Given the description of an element on the screen output the (x, y) to click on. 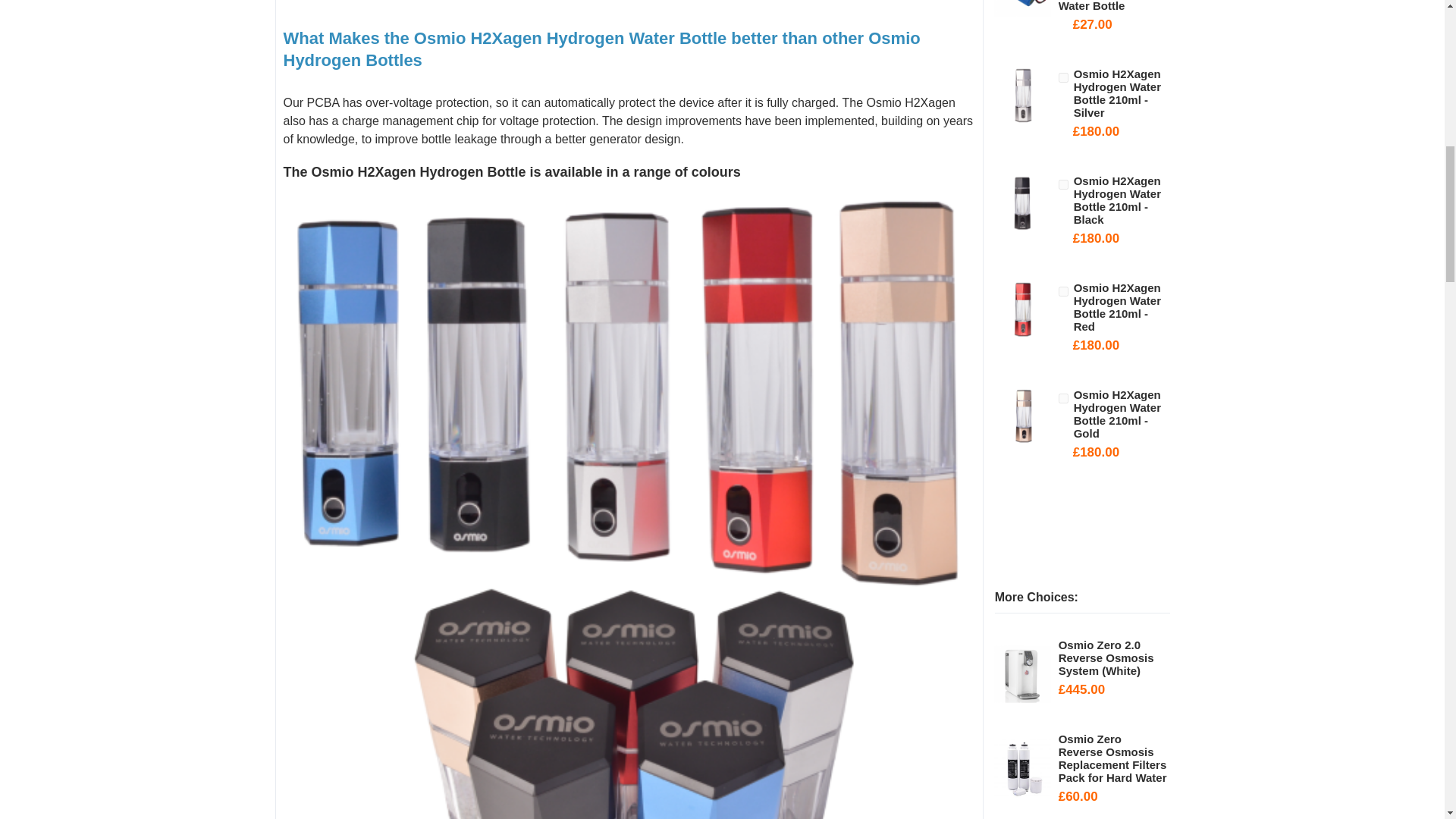
3642 (1063, 291)
3644 (1063, 77)
3643 (1063, 184)
3633 (1063, 398)
